Given the description of an element on the screen output the (x, y) to click on. 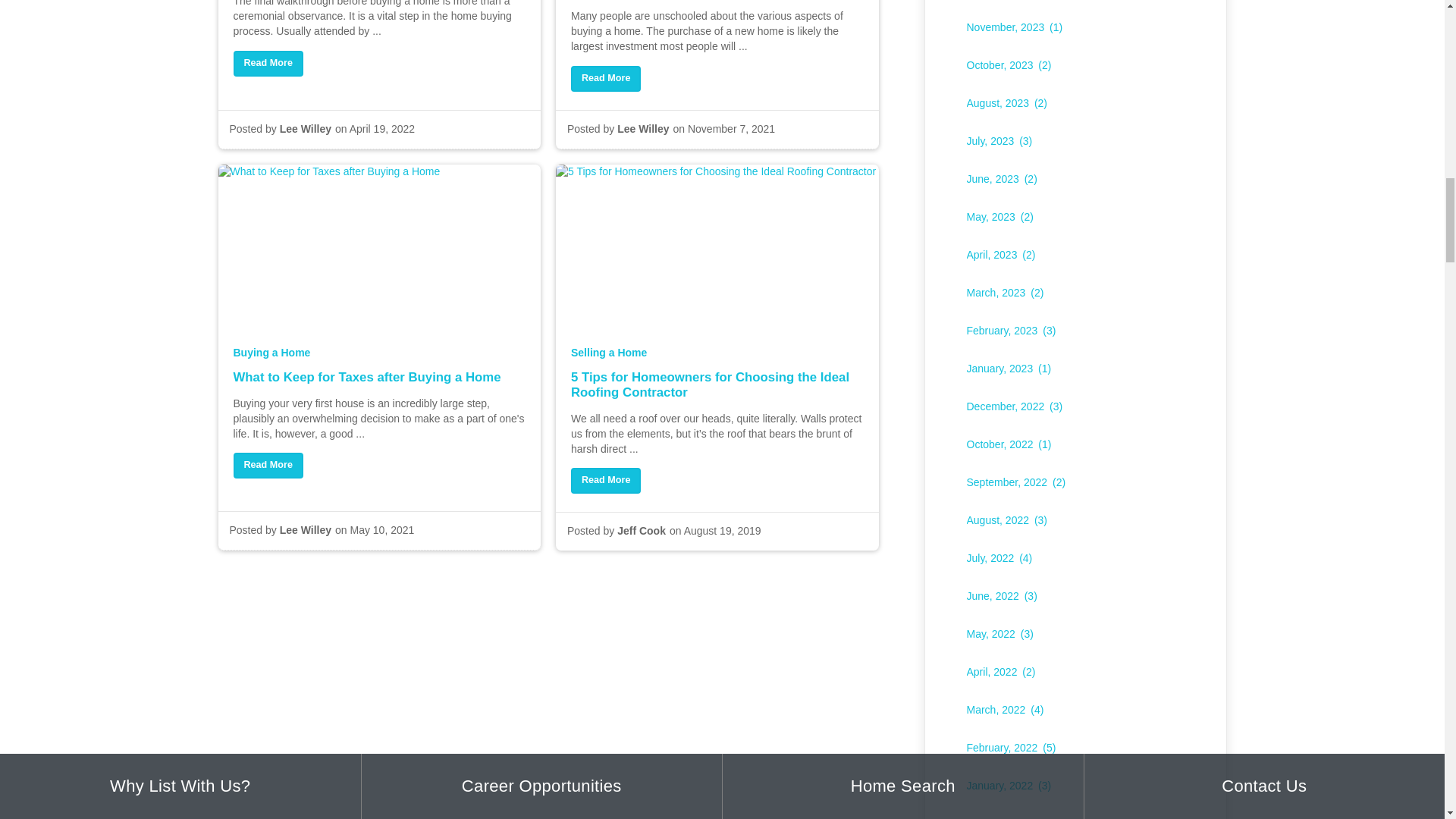
What to Keep for Taxes after Buying a Home (267, 465)
What to Keep for Taxes after Buying a Home (378, 389)
Why Do A Final Walkthrough?  (267, 63)
Why Do A Final Walkthrough?  (378, 2)
